Given the description of an element on the screen output the (x, y) to click on. 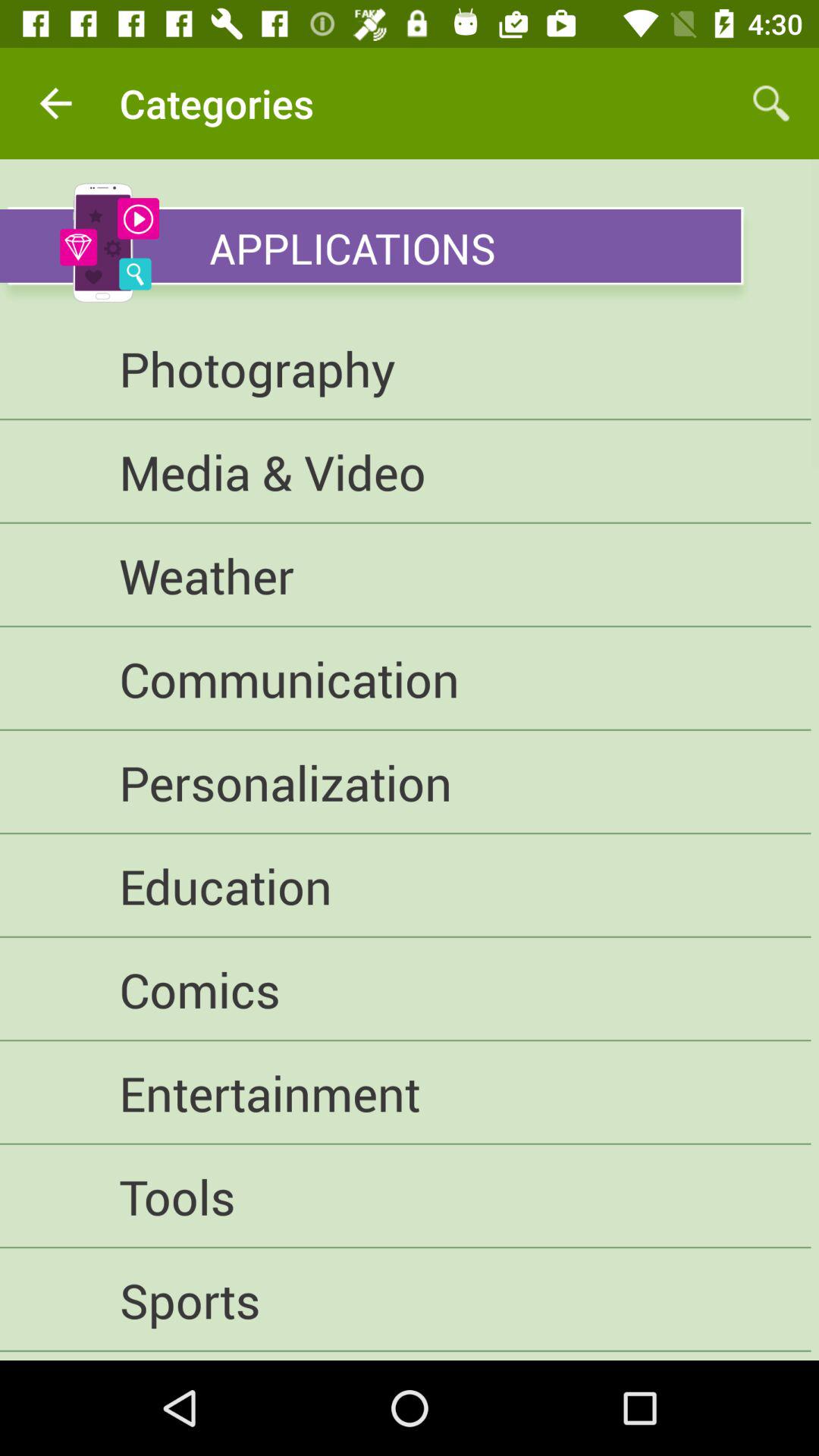
turn on the app next to categories item (771, 103)
